Given the description of an element on the screen output the (x, y) to click on. 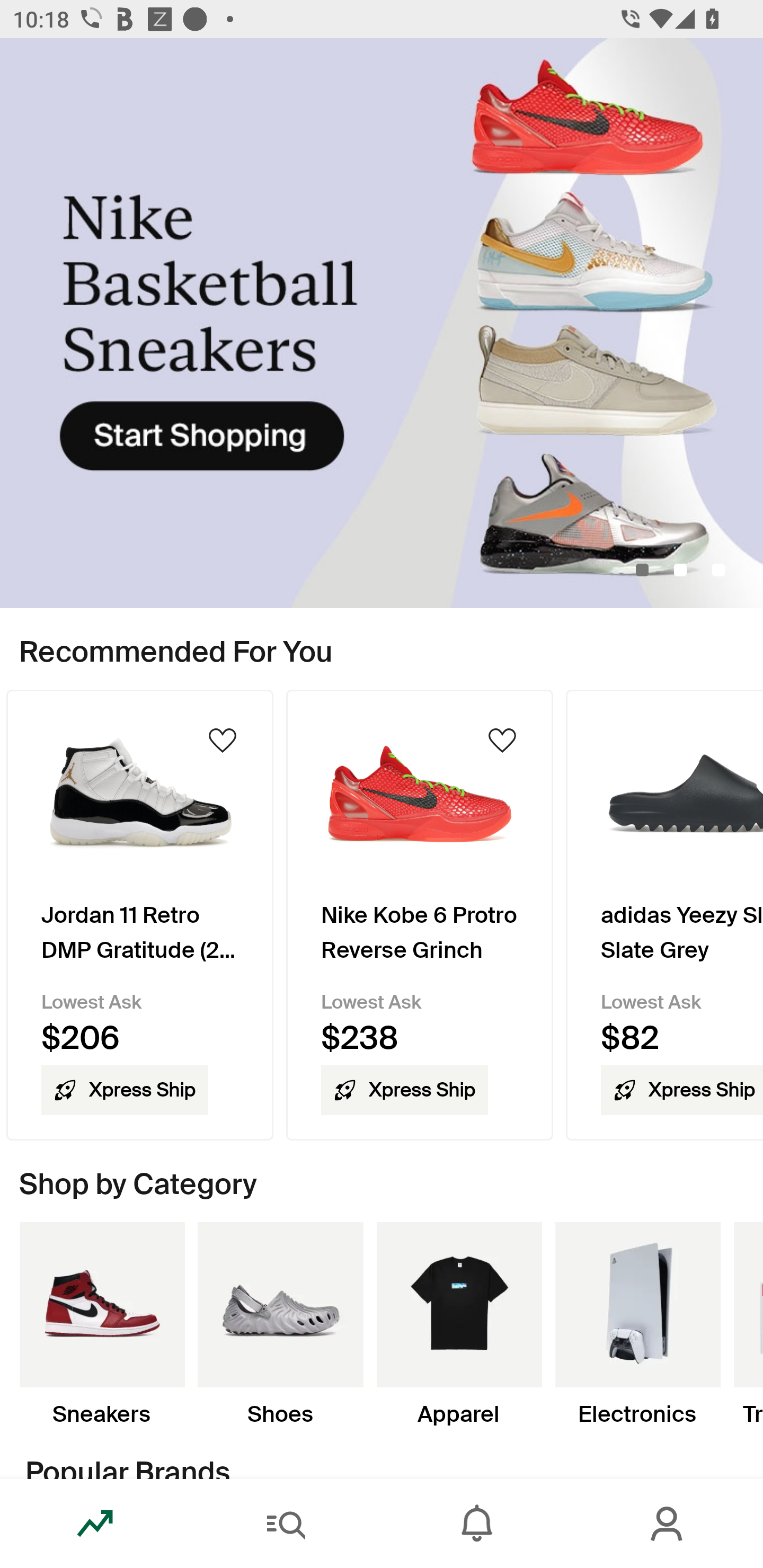
NikeBasketballSprint_Followup_Primary_Mobile.jpg (381, 322)
Product Image Sneakers (101, 1324)
Product Image Shoes (280, 1324)
Product Image Apparel (458, 1324)
Product Image Electronics (637, 1324)
Search (285, 1523)
Inbox (476, 1523)
Account (667, 1523)
